Given the description of an element on the screen output the (x, y) to click on. 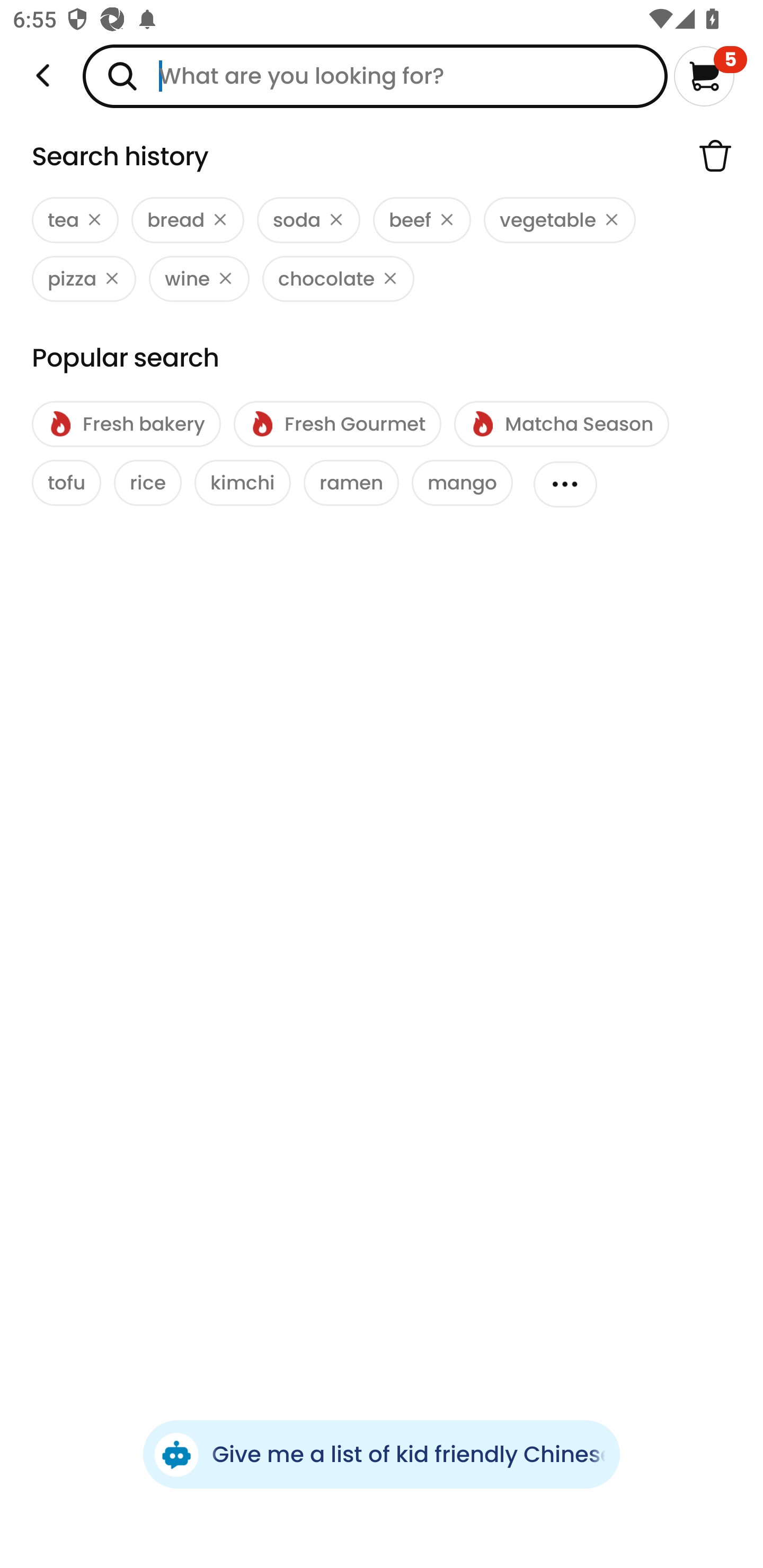
What are you looking for? (374, 75)
5 (709, 75)
Weee! (42, 76)
tea (75, 220)
bread (187, 220)
soda (308, 220)
beef (421, 220)
vegetable (559, 220)
pizza (83, 278)
wine (198, 278)
chocolate (338, 278)
Fresh bakery (126, 423)
Fresh Gourmet (337, 423)
Matcha Season (561, 423)
tofu (66, 482)
rice (147, 482)
kimchi (242, 482)
ramen (351, 482)
mango (462, 482)
